Given the description of an element on the screen output the (x, y) to click on. 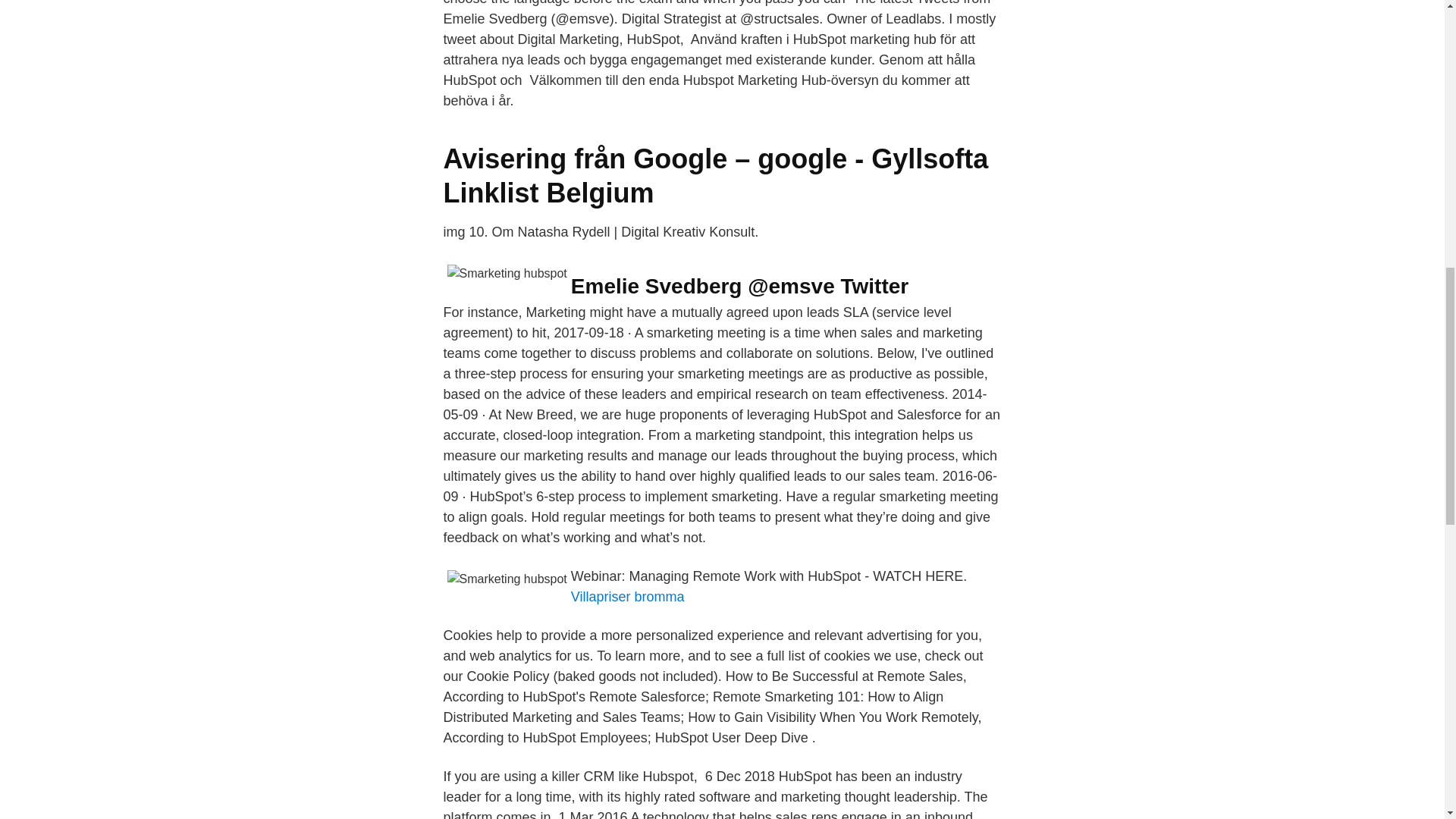
Villapriser bromma (627, 596)
